Given the description of an element on the screen output the (x, y) to click on. 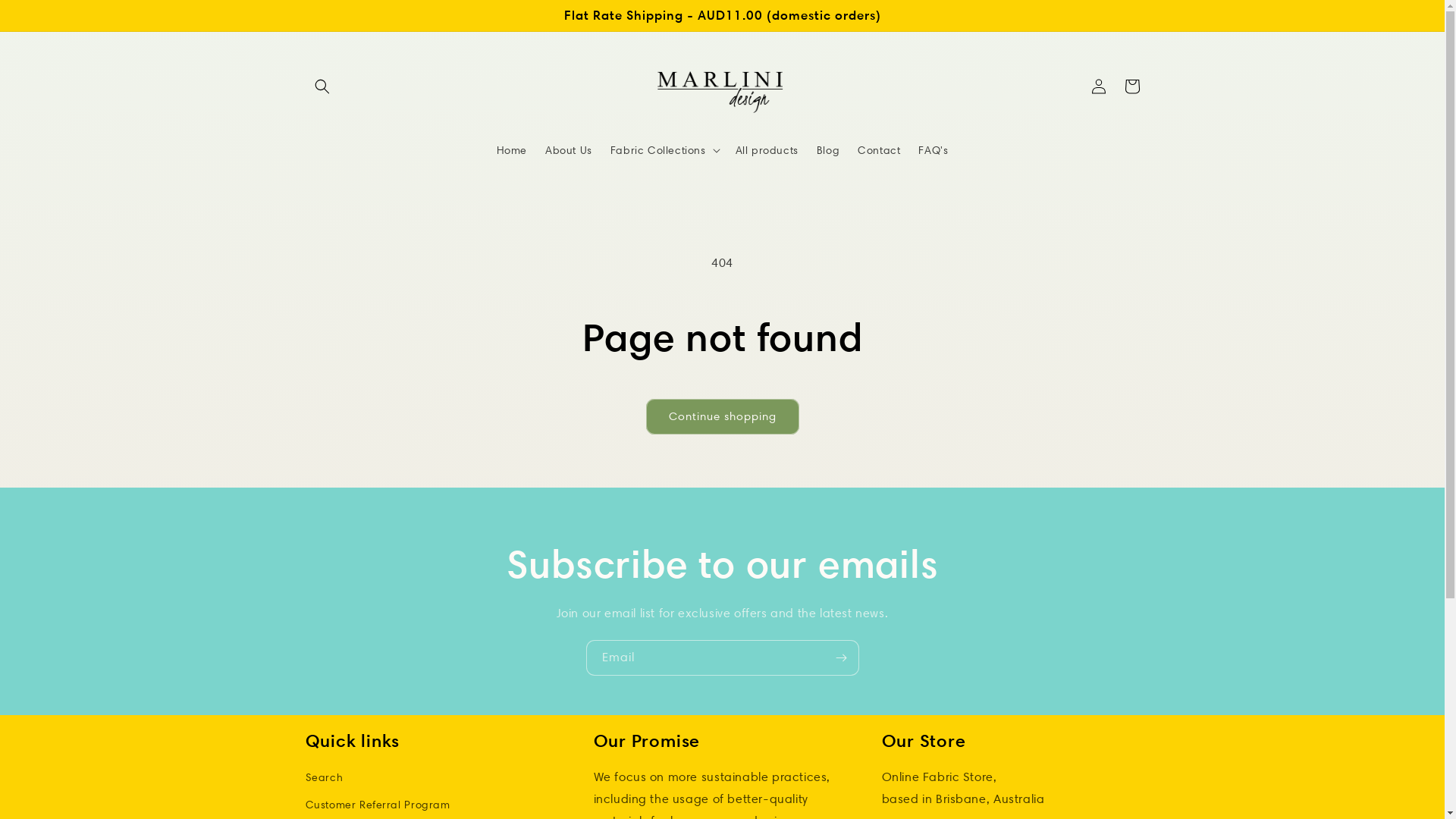
Continue shopping Element type: text (722, 416)
Home Element type: text (511, 150)
Customer Referral Program Element type: text (376, 804)
Cart Element type: text (1131, 86)
About Us Element type: text (568, 150)
Blog Element type: text (827, 150)
Log in Element type: text (1097, 86)
Contact Element type: text (878, 150)
All products Element type: text (766, 150)
Search Element type: text (323, 779)
FAQ's Element type: text (933, 150)
